Given the description of an element on the screen output the (x, y) to click on. 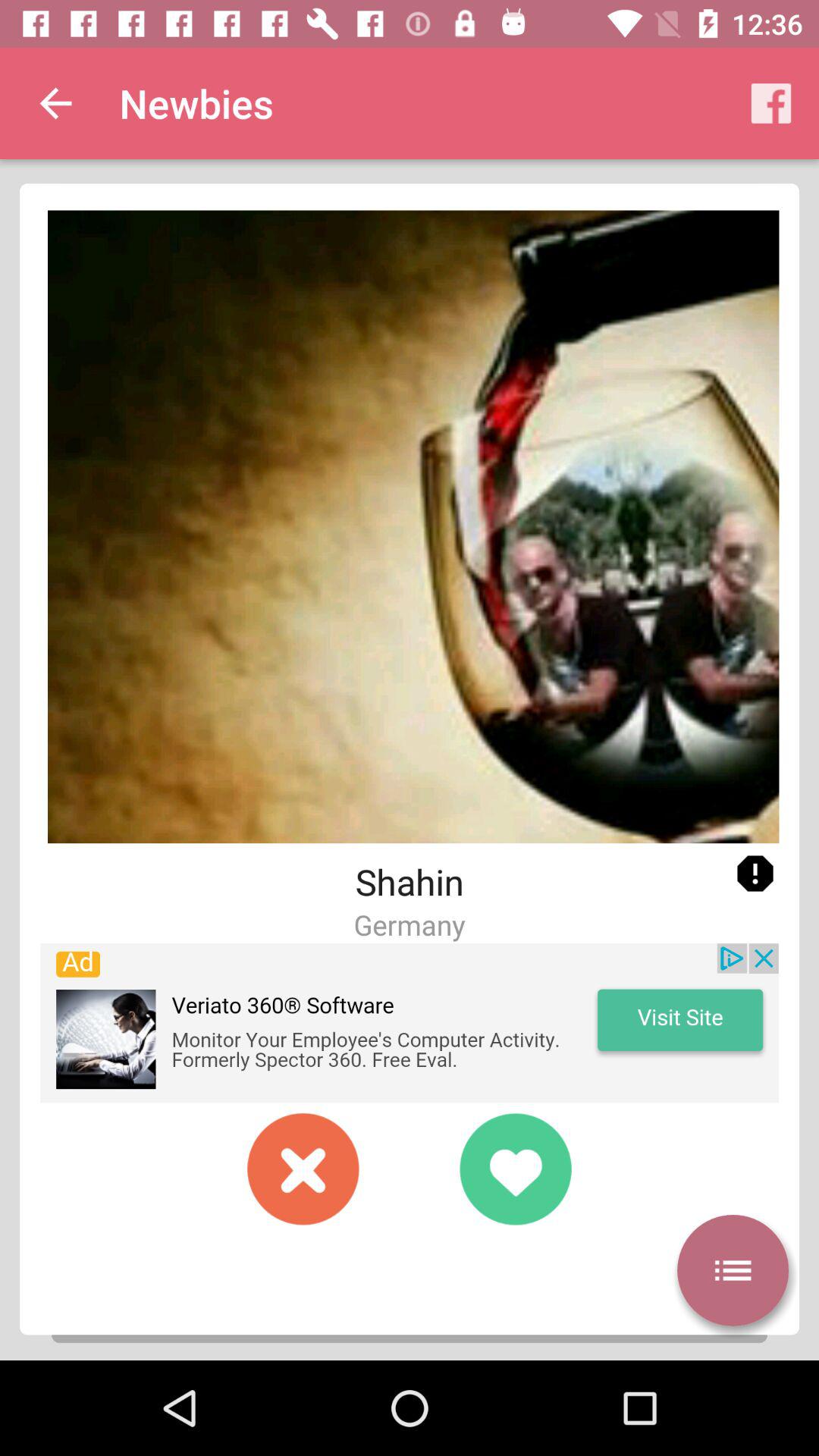
like/ love (515, 1169)
